Given the description of an element on the screen output the (x, y) to click on. 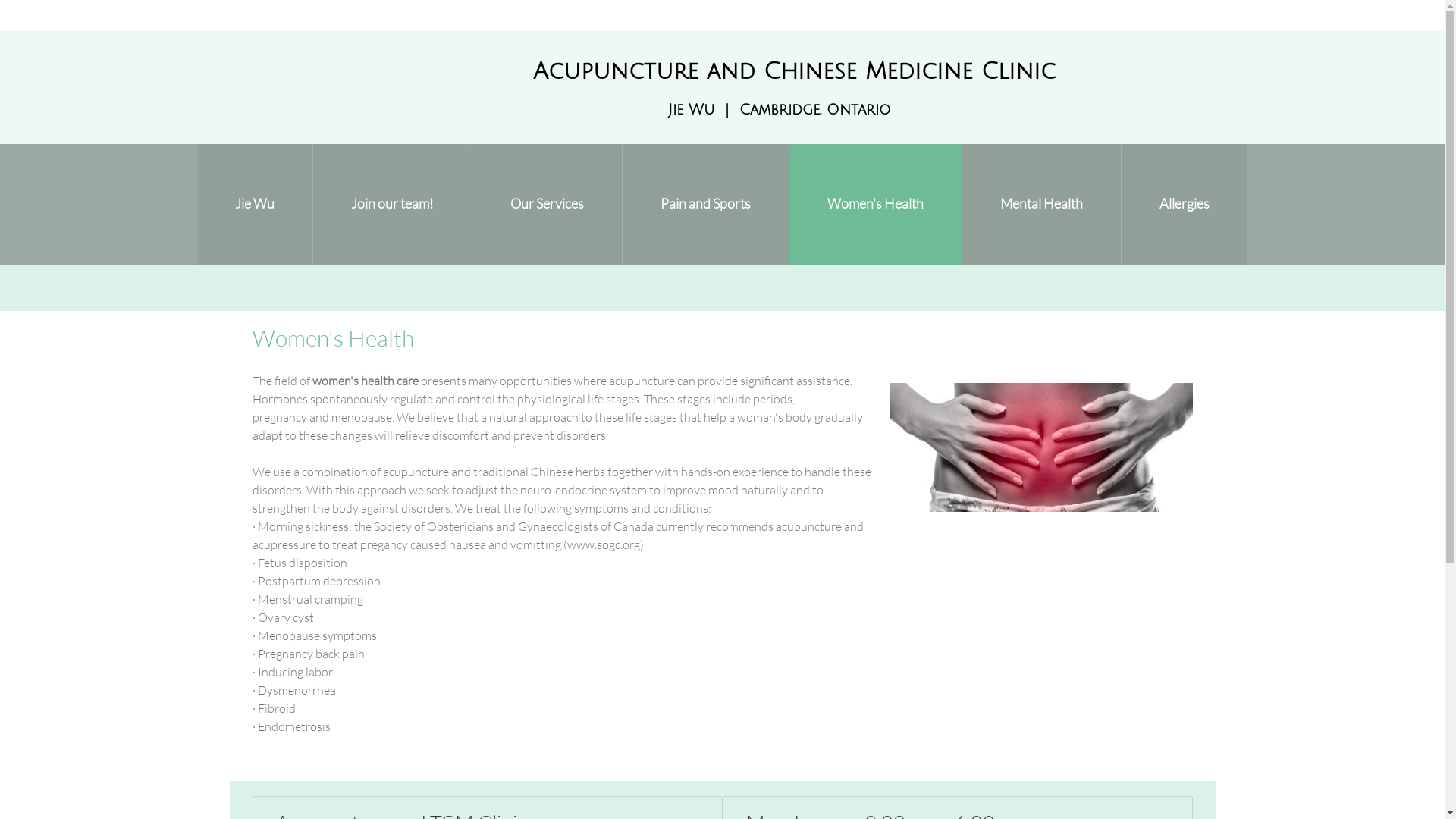
Our Services Element type: text (547, 204)
Women's Health Element type: text (875, 204)
Pain and Sports Element type: text (705, 204)
Allergies Element type: text (1184, 204)
Mental Health Element type: text (1041, 204)
Jie Wu Element type: text (254, 204)
Join our team! Element type: text (392, 204)
